Given the description of an element on the screen output the (x, y) to click on. 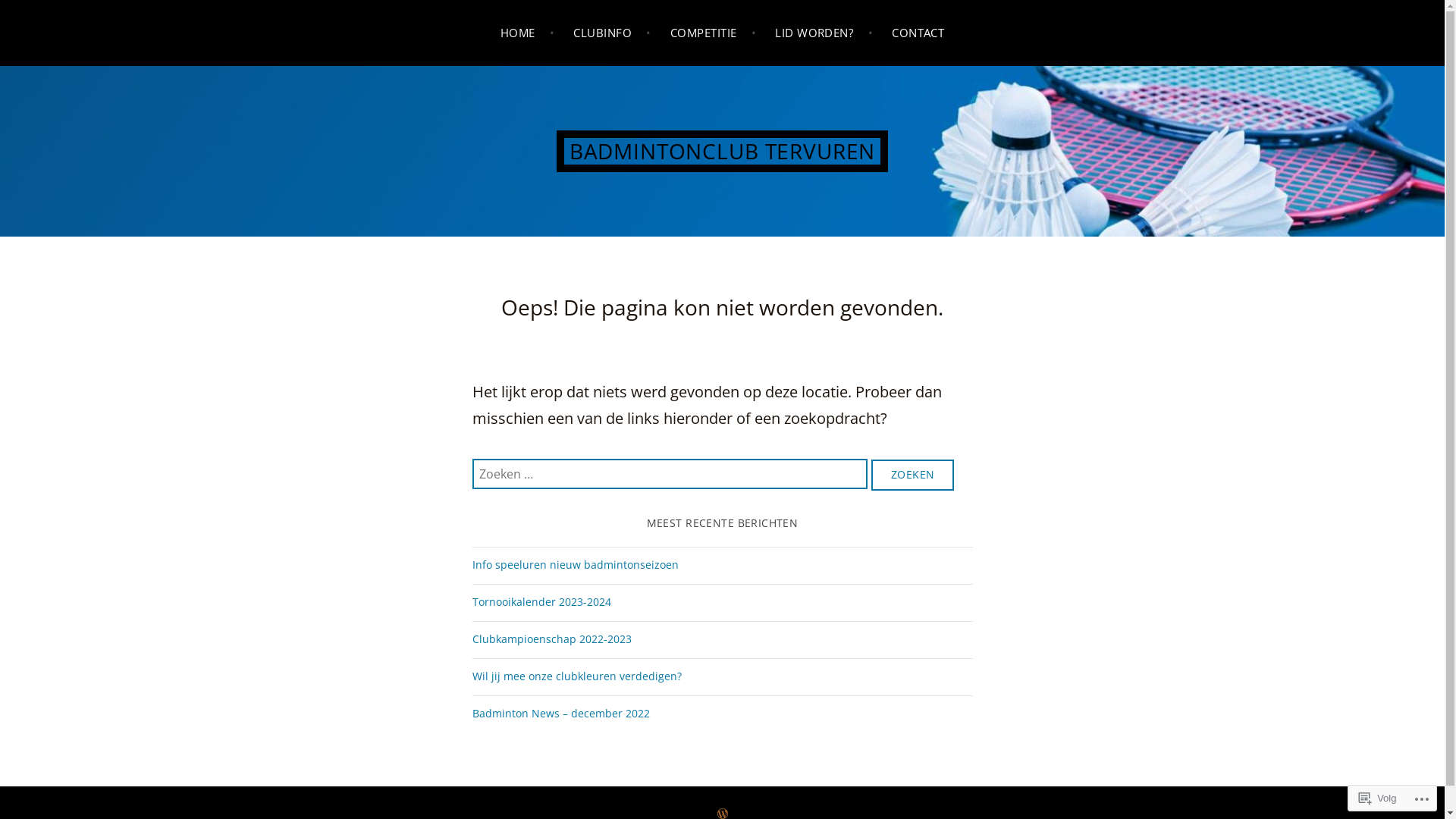
LID WORDEN? Element type: text (823, 32)
Clubkampioenschap 2022-2023 Element type: text (550, 639)
Volg Element type: text (1377, 797)
HOME Element type: text (527, 32)
BADMINTONCLUB TERVUREN Element type: text (722, 151)
Tornooikalender 2023-2024 Element type: text (540, 602)
Wil jij mee onze clubkleuren verdedigen? Element type: text (575, 676)
COMPETITIE Element type: text (713, 32)
Info speeluren nieuw badmintonseizoen Element type: text (574, 565)
CONTACT Element type: text (917, 32)
CLUBINFO Element type: text (612, 32)
Zoeken Element type: text (912, 474)
